Given the description of an element on the screen output the (x, y) to click on. 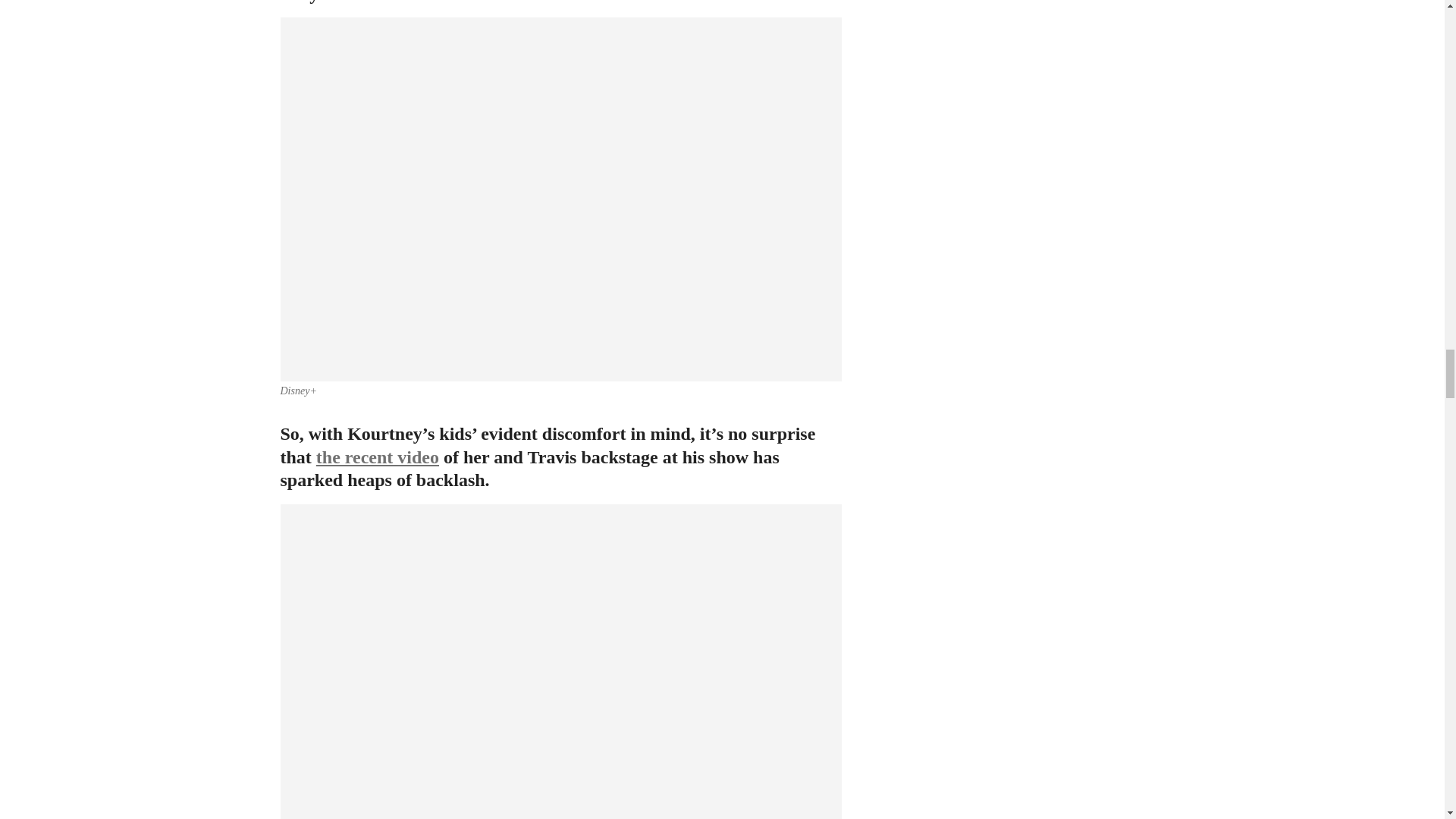
the recent video (377, 456)
